Given the description of an element on the screen output the (x, y) to click on. 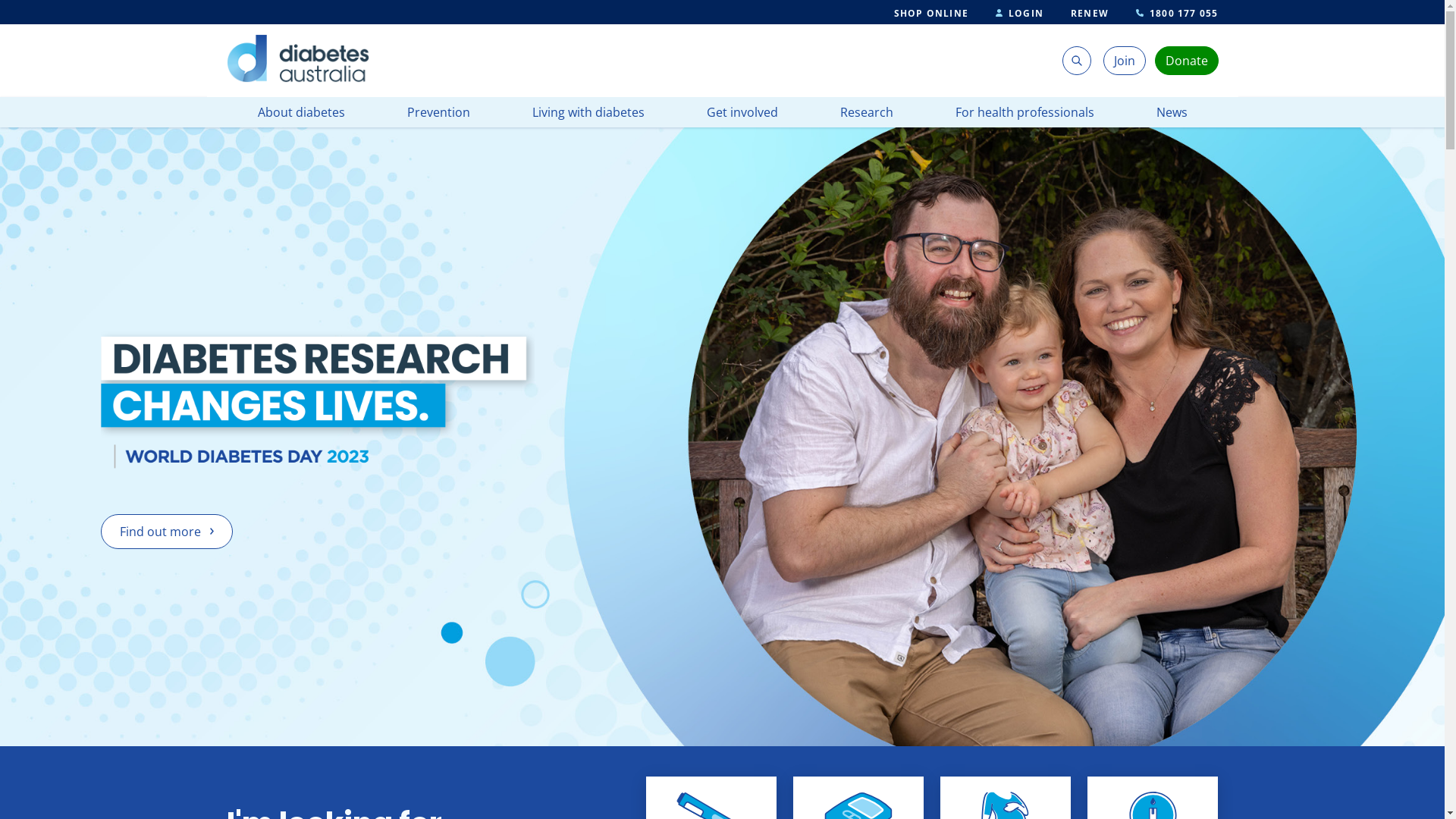
For health professionals Element type: text (1024, 112)
1800 177 055 Element type: text (1176, 12)
RENEW Element type: text (1089, 12)
Donate Element type: text (1186, 60)
SHOP ONLINE Element type: text (931, 12)
Join Element type: text (1124, 60)
About diabetes Element type: text (301, 112)
Living with diabetes Element type: text (588, 112)
News Element type: text (1170, 112)
Find out more Element type: text (166, 531)
Prevention Element type: text (437, 112)
LOGIN Element type: text (1019, 12)
Get involved Element type: text (742, 112)
Research Element type: text (866, 112)
